Given the description of an element on the screen output the (x, y) to click on. 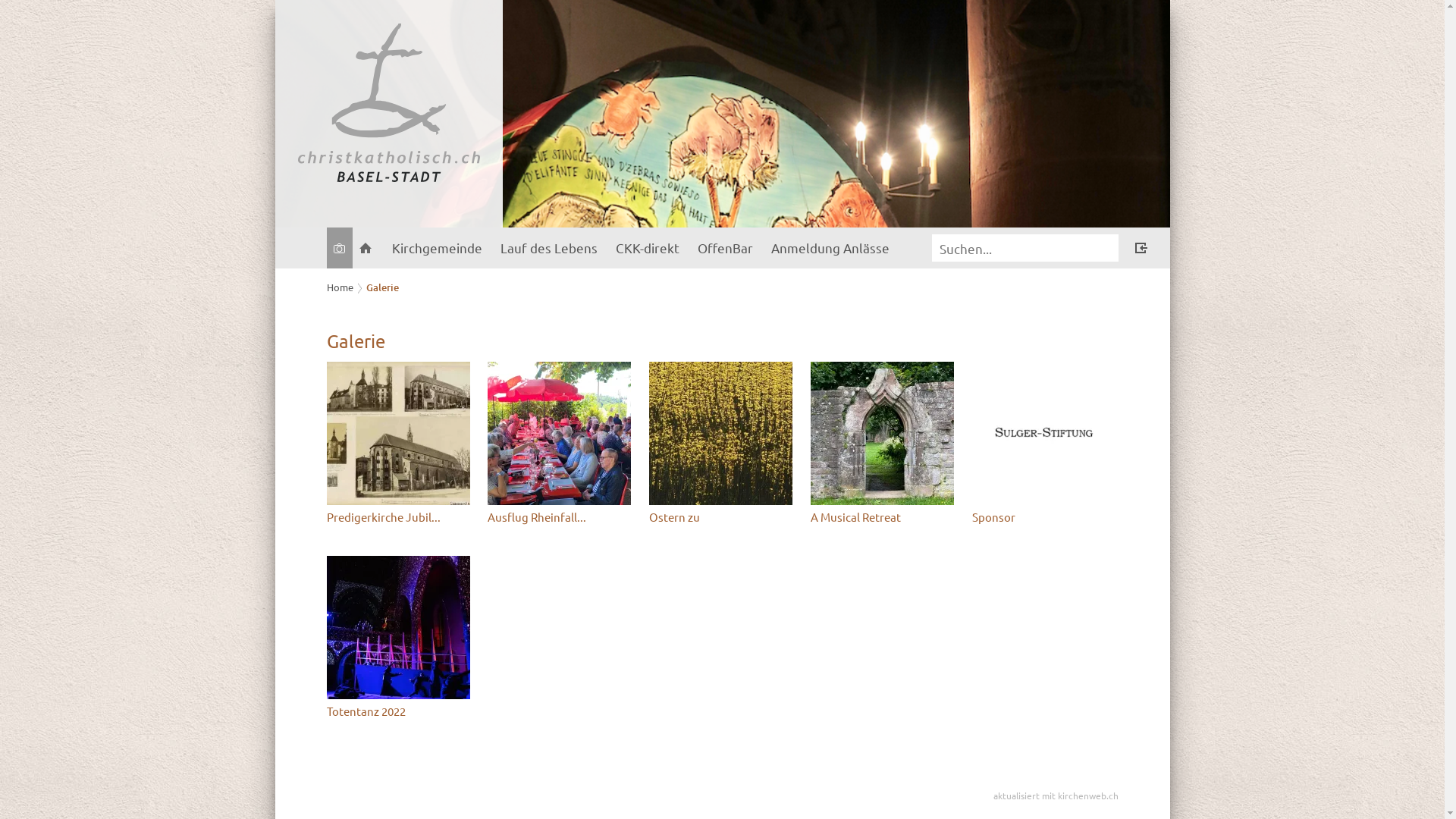
Totentanz 2022 Element type: text (399, 711)
Home Element type: hover (364, 247)
Home Element type: text (339, 286)
Login Element type: hover (1140, 249)
Predigerkirche Jubil... Element type: text (399, 517)
Galerie Element type: text (382, 287)
A Musical Retreat Element type: text (883, 517)
CKK-direkt Element type: text (647, 247)
Predigerkirche AL_45,_4-22 Element type: hover (397, 433)
Ostern zu Element type: text (722, 517)
A Musical Retreat Element type: hover (881, 433)
Galerie Element type: hover (338, 247)
1. Fastensonntag Element type: hover (720, 433)
aktualisiert mit kirchenweb.ch Element type: text (1055, 795)
Sponsor Element type: text (1045, 517)
Totentanz 1 (Foto: Silias Gotsch) Element type: hover (397, 627)
Ausflug Rheinfall... Element type: text (560, 517)
Sulger Stiftung Element type: hover (1043, 433)
Im Wirtshaus zum Buck (Foto: Haas) Element type: hover (558, 433)
